Given the description of an element on the screen output the (x, y) to click on. 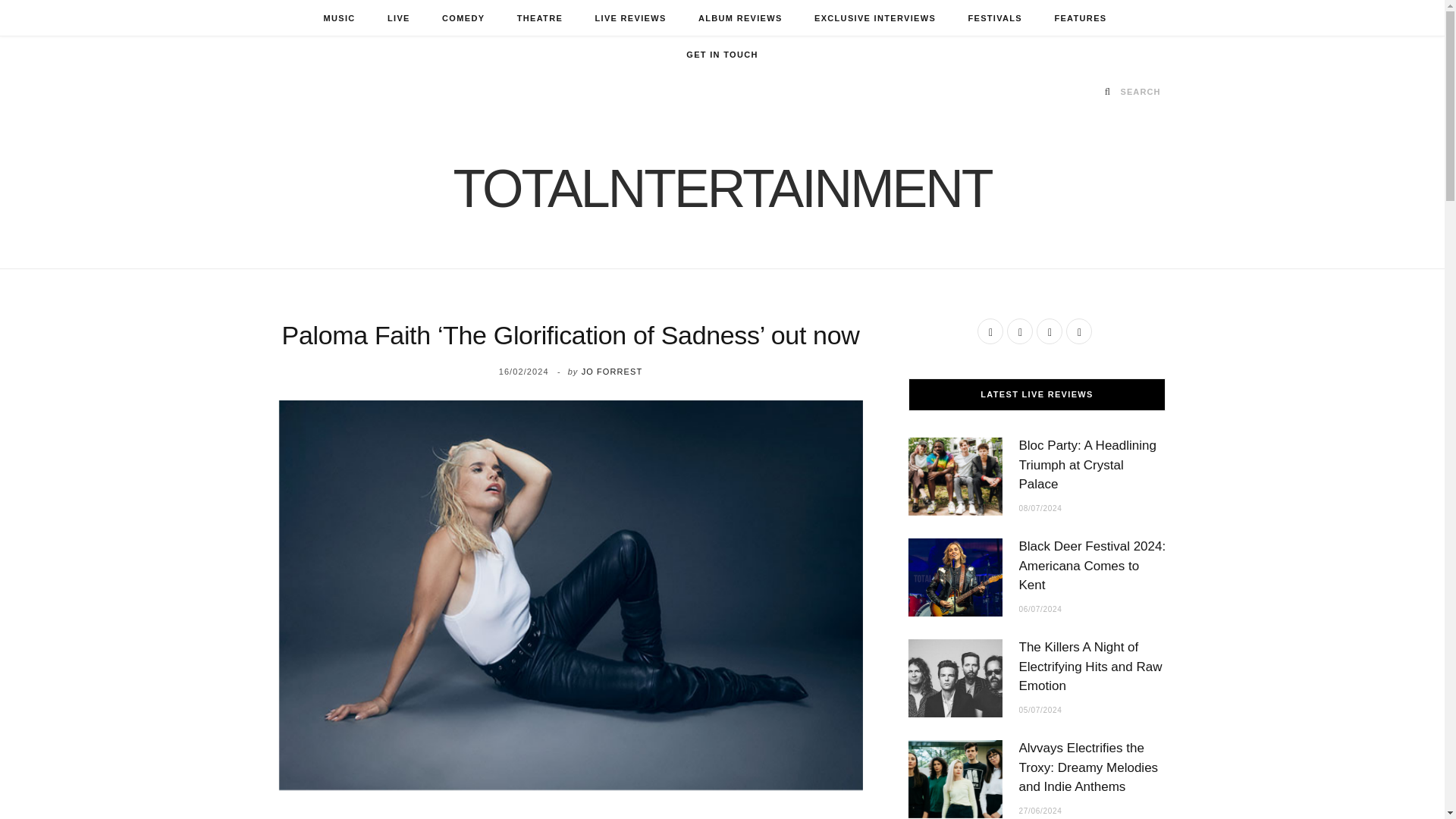
EXCLUSIVE INTERVIEWS (874, 18)
Posts by Jo Forrest (611, 370)
TotalNtertainment (721, 188)
JO FORREST (611, 370)
COMEDY (463, 18)
THEATRE (539, 18)
TOTALNTERTAINMENT (721, 188)
FEATURES (1080, 18)
FESTIVALS (994, 18)
GET IN TOUCH (721, 54)
